Given the description of an element on the screen output the (x, y) to click on. 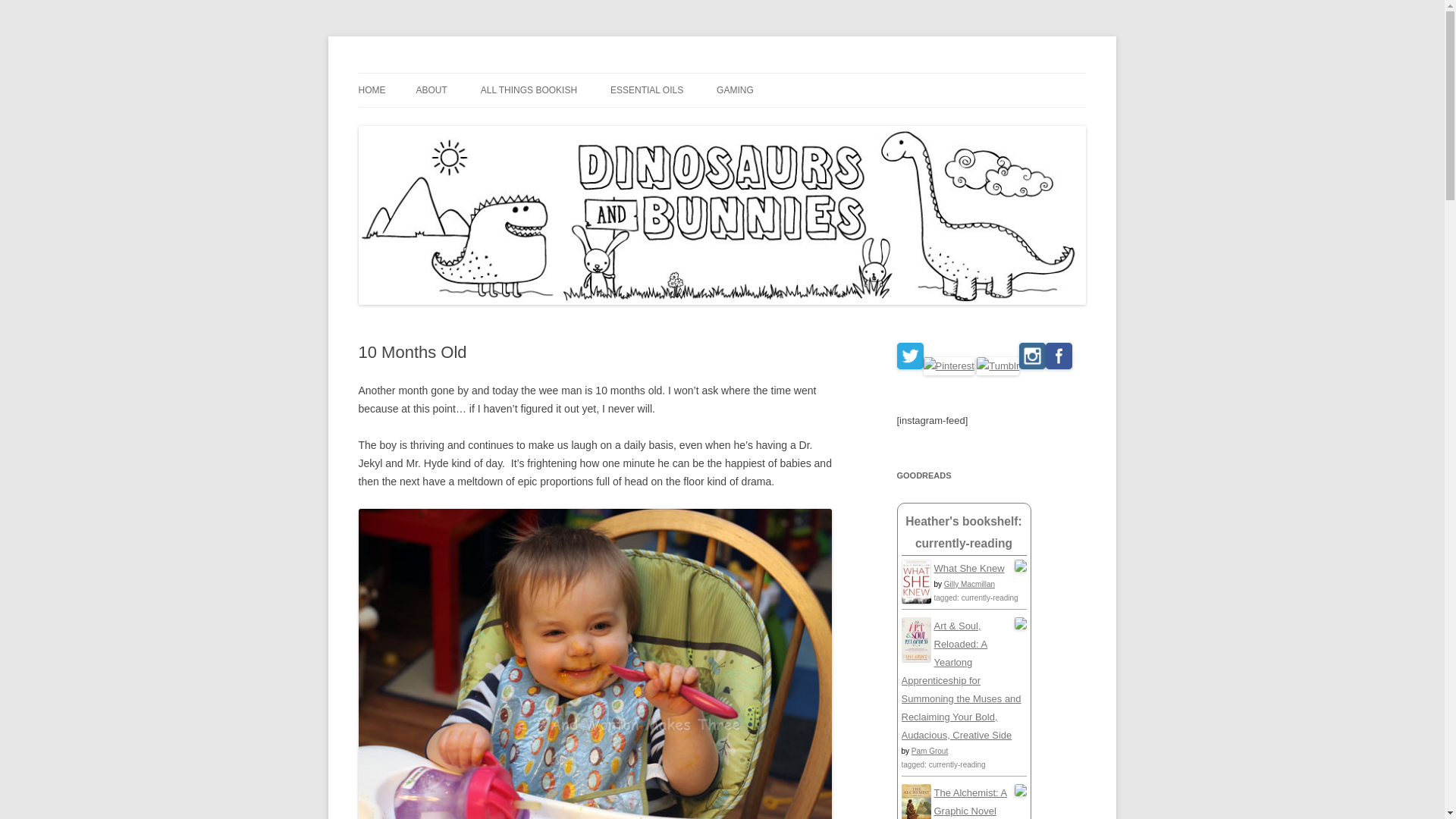
ABOUT (430, 90)
Facebook (1058, 356)
GAMING (735, 90)
The Alchemist: A Graphic Novel (970, 801)
What She Knew (969, 568)
Dino and Bunnies (441, 72)
Tumblr (997, 366)
Twitter (909, 356)
Pam Grout (929, 750)
Instagram (1032, 356)
ESSENTIAL OILS (646, 90)
Gilly Macmillan (968, 583)
Pinterest (948, 366)
Heather's bookshelf: currently-reading (963, 532)
